Given the description of an element on the screen output the (x, y) to click on. 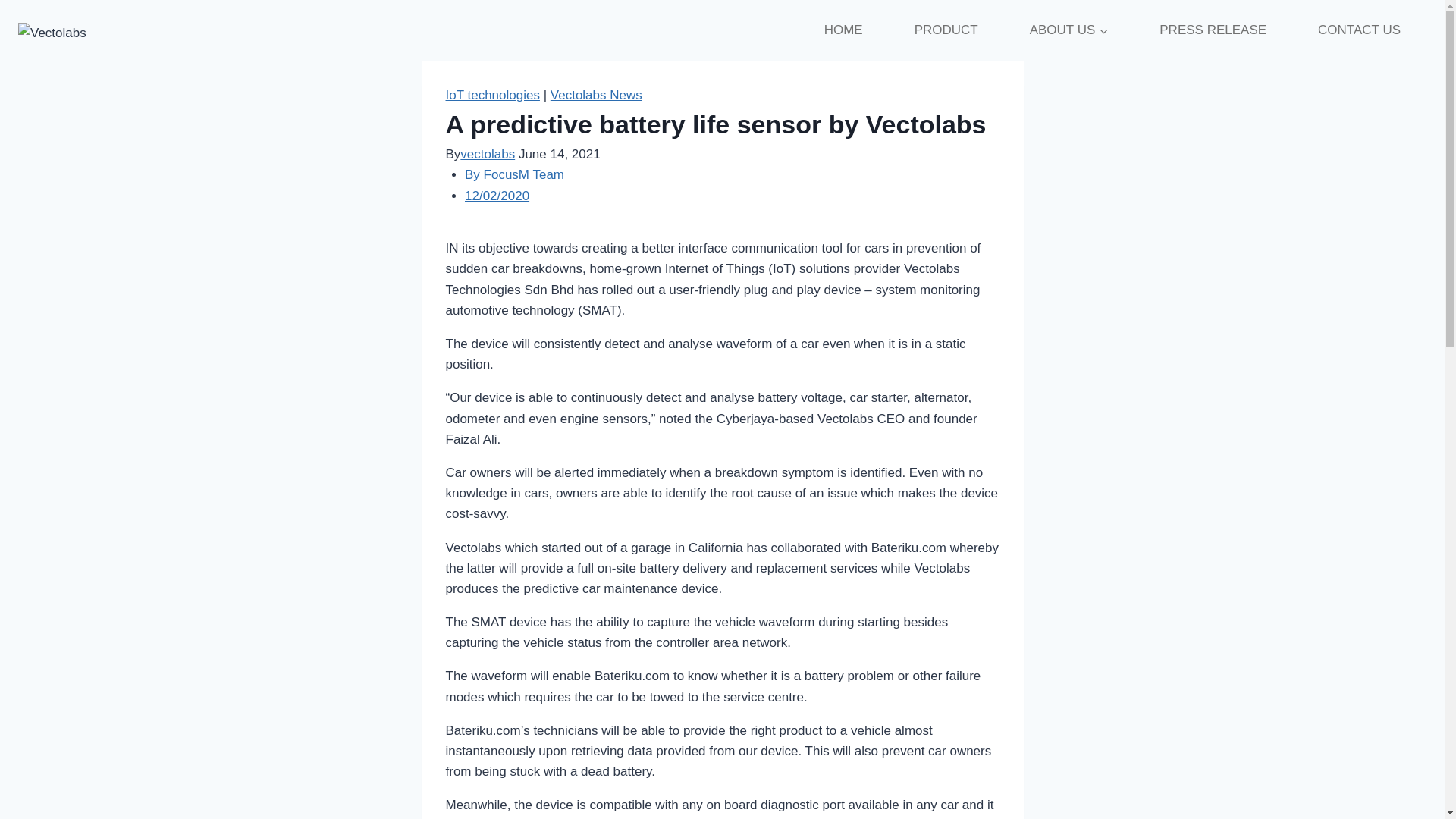
Vectolabs News (596, 94)
ABOUT US (1069, 30)
CONTACT US (1359, 30)
vectolabs (487, 154)
HOME (842, 30)
PRODUCT (946, 30)
IoT technologies (492, 94)
PRESS RELEASE (1213, 30)
By FocusM Team (514, 174)
